Given the description of an element on the screen output the (x, y) to click on. 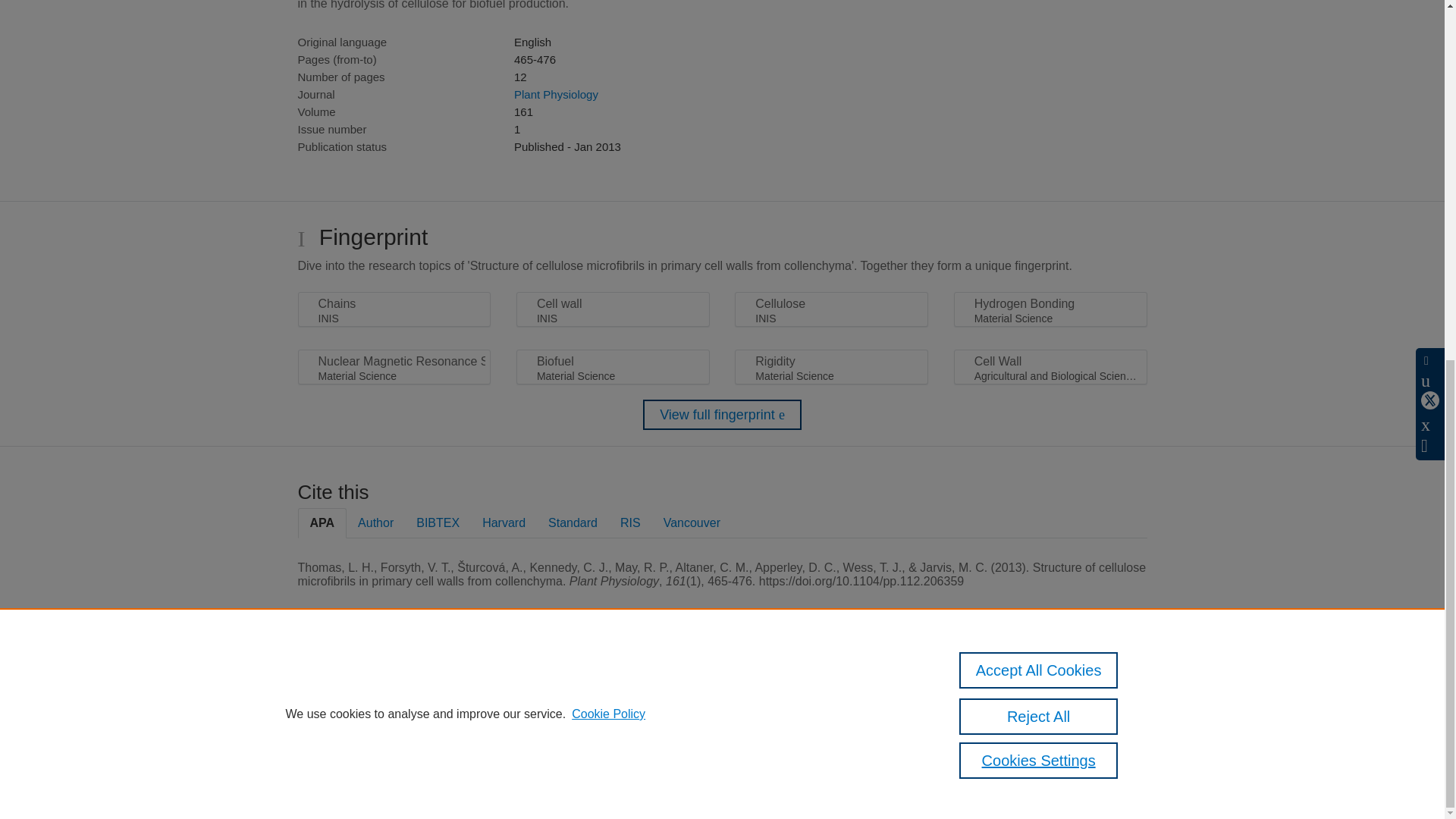
Scopus (394, 686)
Plant Physiology (555, 93)
Pure (362, 686)
View full fingerprint (722, 414)
